Given the description of an element on the screen output the (x, y) to click on. 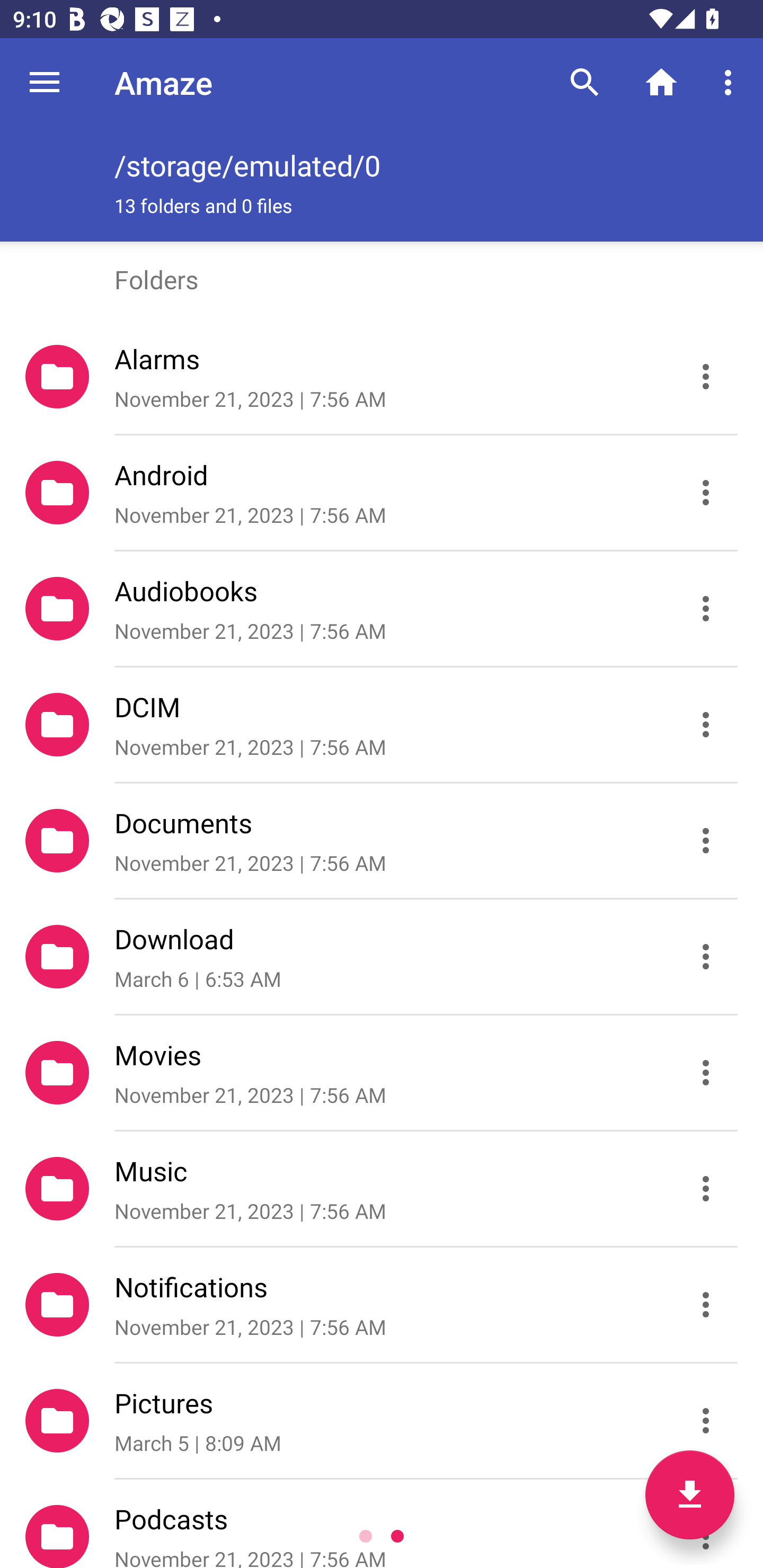
Navigate up (44, 82)
Search (585, 81)
Home (661, 81)
More options (731, 81)
Alarms November 21, 2023 | 7:56 AM (381, 376)
Android November 21, 2023 | 7:56 AM (381, 492)
Audiobooks November 21, 2023 | 7:56 AM (381, 608)
DCIM November 21, 2023 | 7:56 AM (381, 724)
Documents November 21, 2023 | 7:56 AM (381, 841)
Download March 6 | 6:53 AM (381, 957)
Movies November 21, 2023 | 7:56 AM (381, 1073)
Music November 21, 2023 | 7:56 AM (381, 1189)
Notifications November 21, 2023 | 7:56 AM (381, 1305)
Pictures March 5 | 8:09 AM (381, 1421)
Podcasts November 21, 2023 | 7:56 AM (381, 1524)
